Given the description of an element on the screen output the (x, y) to click on. 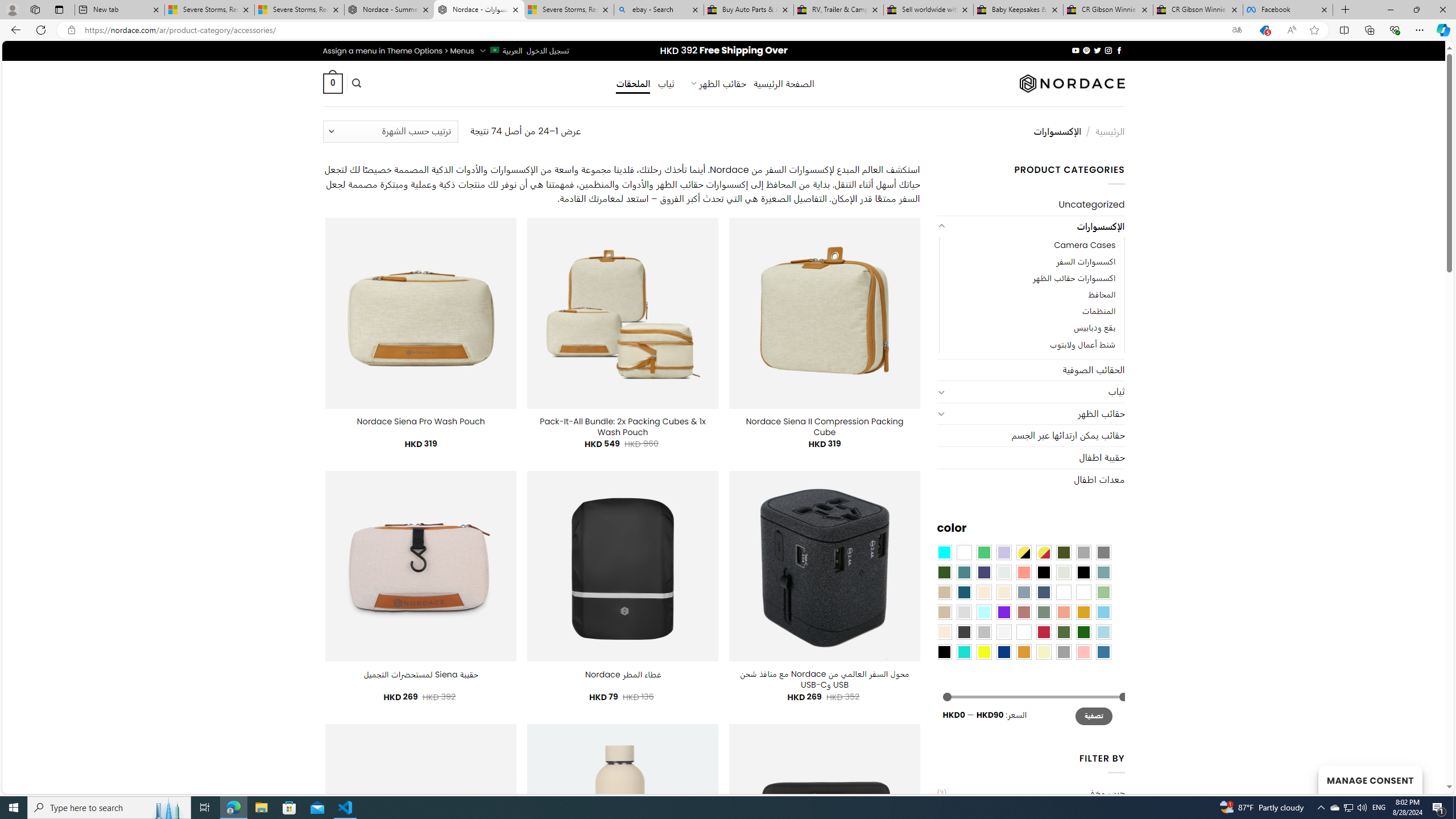
App bar (728, 29)
Uncategorized (1030, 204)
Emerald Green (983, 551)
Back (13, 29)
Assign a menu in Theme Options > Menus (397, 50)
Tab actions menu (58, 9)
Settings and more (Alt+F) (1419, 29)
Caramel (983, 591)
This site has coupons! Shopping in Microsoft Edge, 5 (1263, 29)
